Given the description of an element on the screen output the (x, y) to click on. 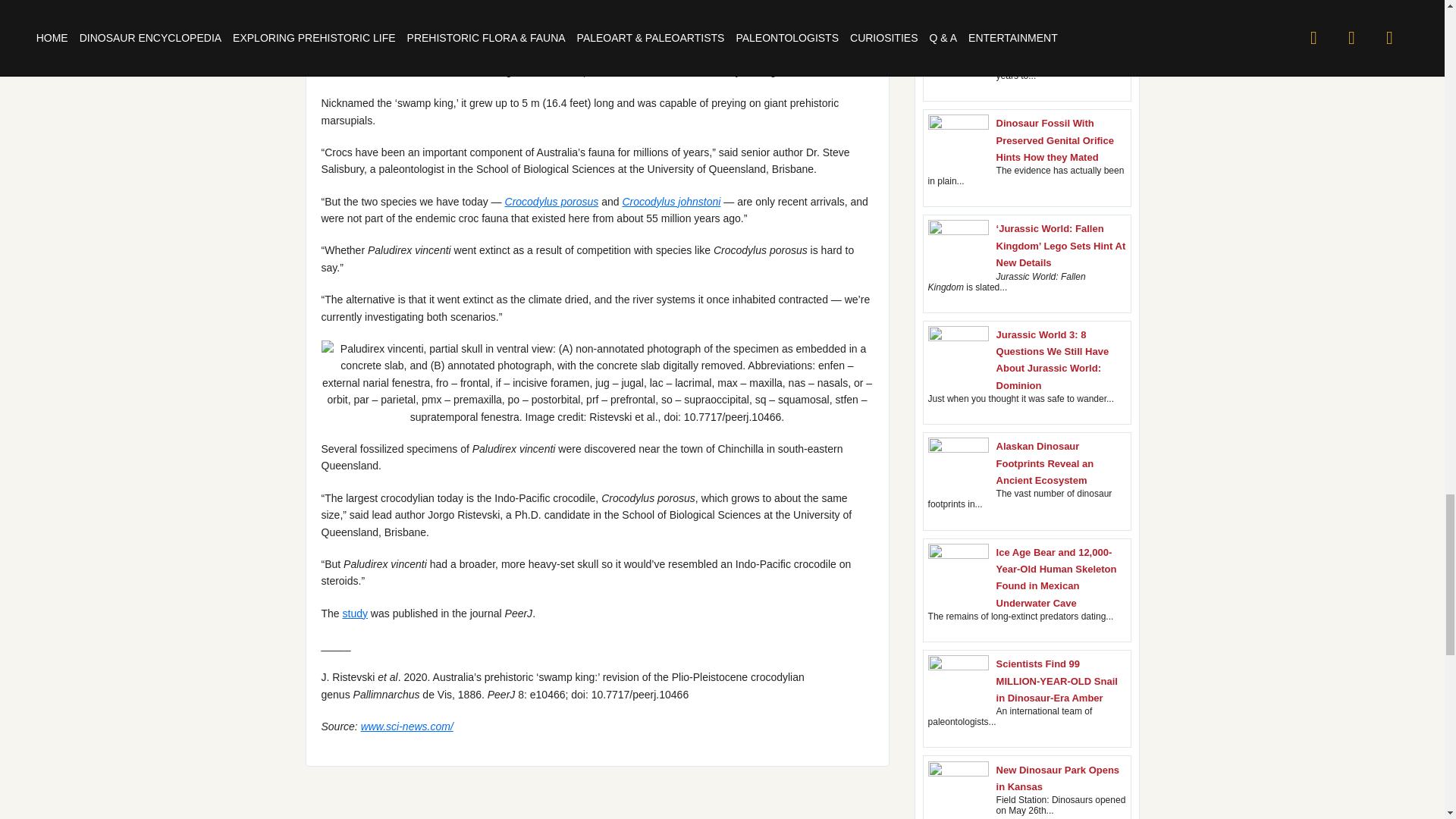
40 Dinosaur Jokes for Every Laugh-O-Saurus (1049, 42)
Crocodylus porosus (551, 201)
Crocodylus johnstoni (670, 201)
Pliocene Epoch (568, 70)
study (355, 613)
